Given the description of an element on the screen output the (x, y) to click on. 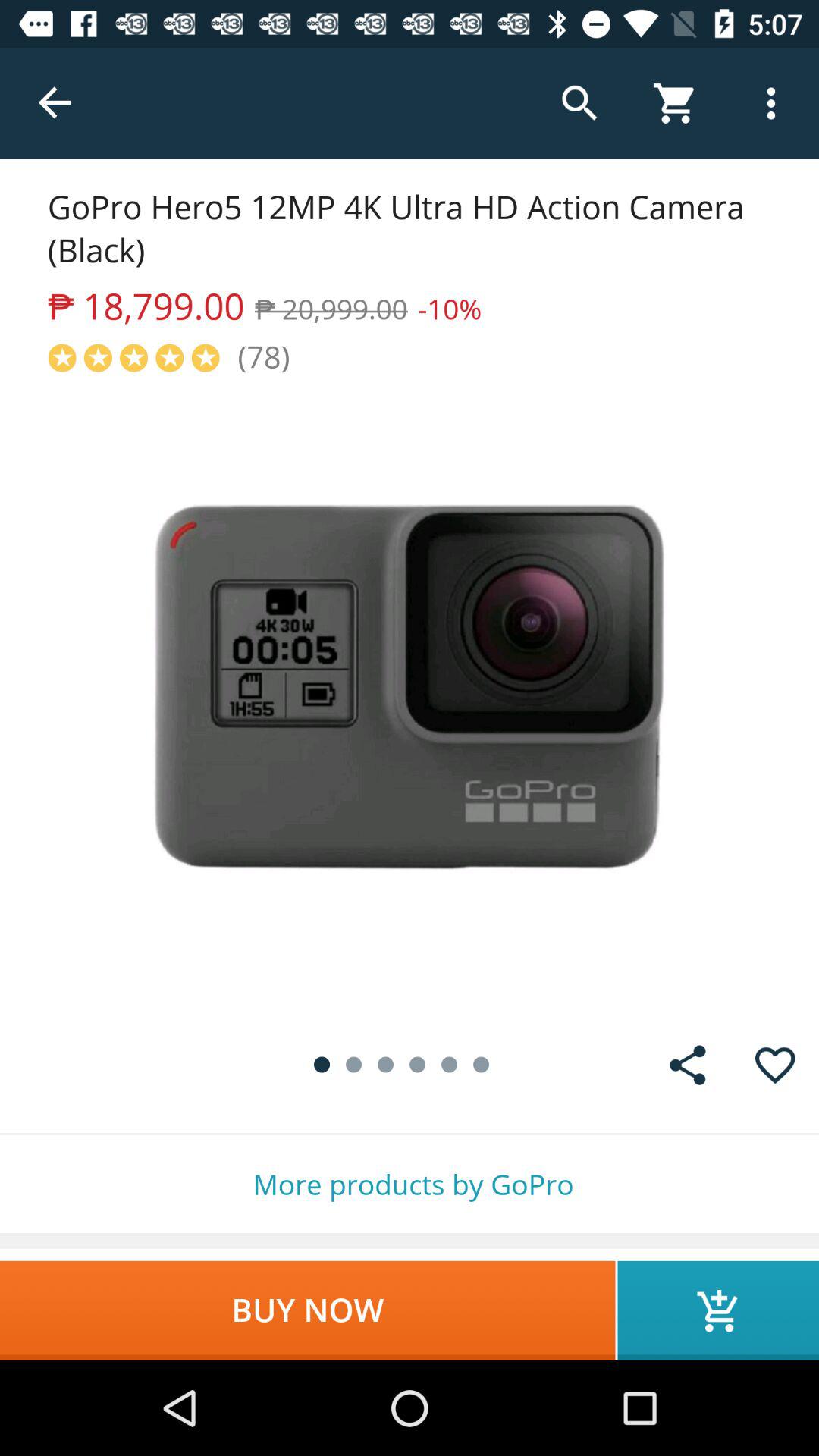
choose the item above gopro hero5 12mp item (55, 103)
